Given the description of an element on the screen output the (x, y) to click on. 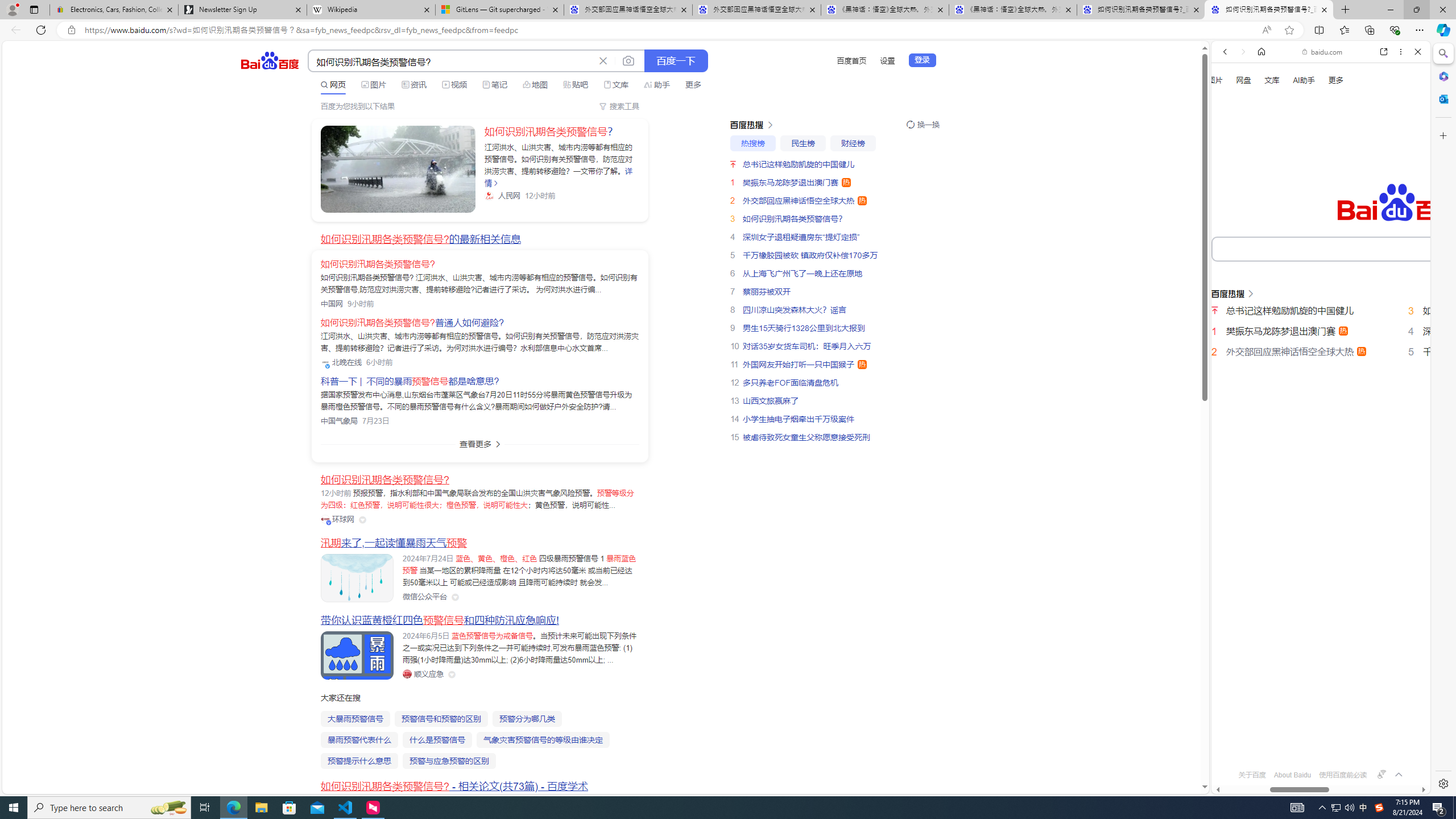
Cambridge Dictionary (1315, 397)
Class: vip-icon_kNmNt (328, 522)
Search Filter, VIDEOS (1300, 192)
